Given the description of an element on the screen output the (x, y) to click on. 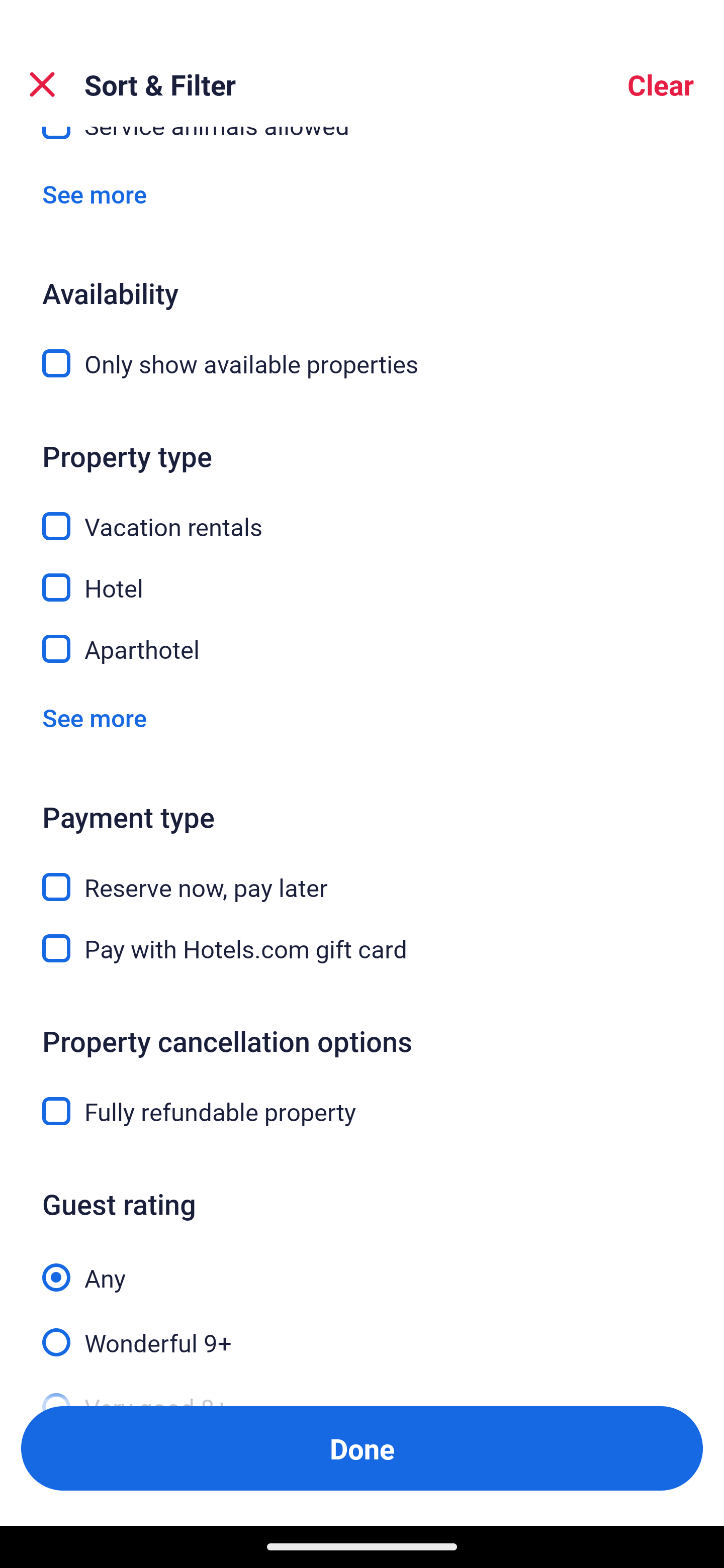
Close Sort and Filter (42, 84)
Clear (660, 84)
Vacation rentals, Vacation rentals (361, 514)
Hotel, Hotel (361, 575)
Aparthotel, Aparthotel (361, 648)
See more See more property types Link (93, 717)
Reserve now, pay later, Reserve now, pay later (361, 875)
Wonderful 9+ (361, 1331)
Apply and close Sort and Filter Done (361, 1448)
